Given the description of an element on the screen output the (x, y) to click on. 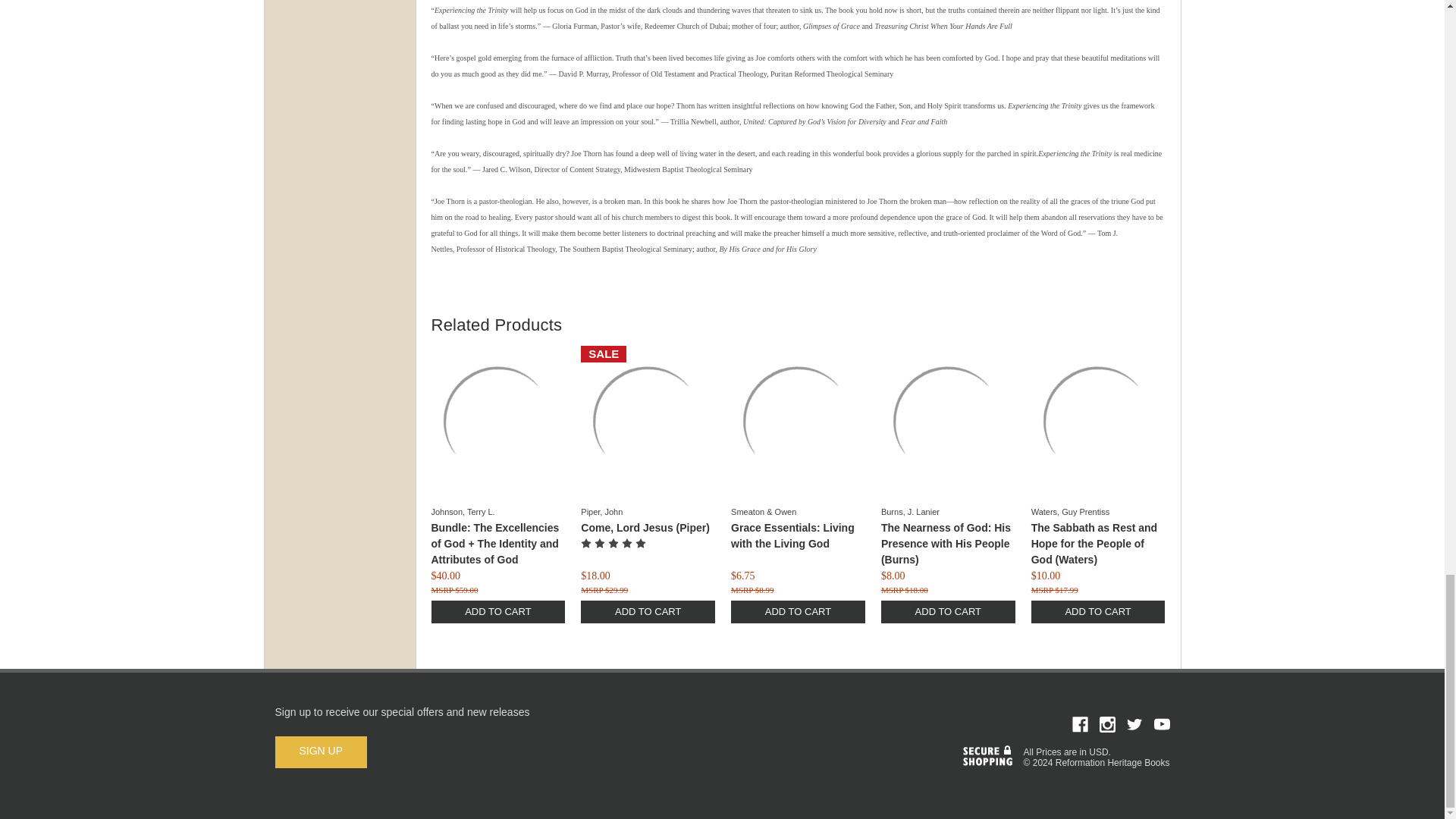
Add to Cart (797, 611)
Add to Cart (1098, 611)
youtube (1162, 724)
Grace Essentials: Living with the Living God (797, 421)
facebook (1079, 724)
Add to Cart (947, 611)
Add to Cart (497, 611)
Add to Cart (647, 611)
instagram (1107, 724)
twitter (1134, 724)
